Given the description of an element on the screen output the (x, y) to click on. 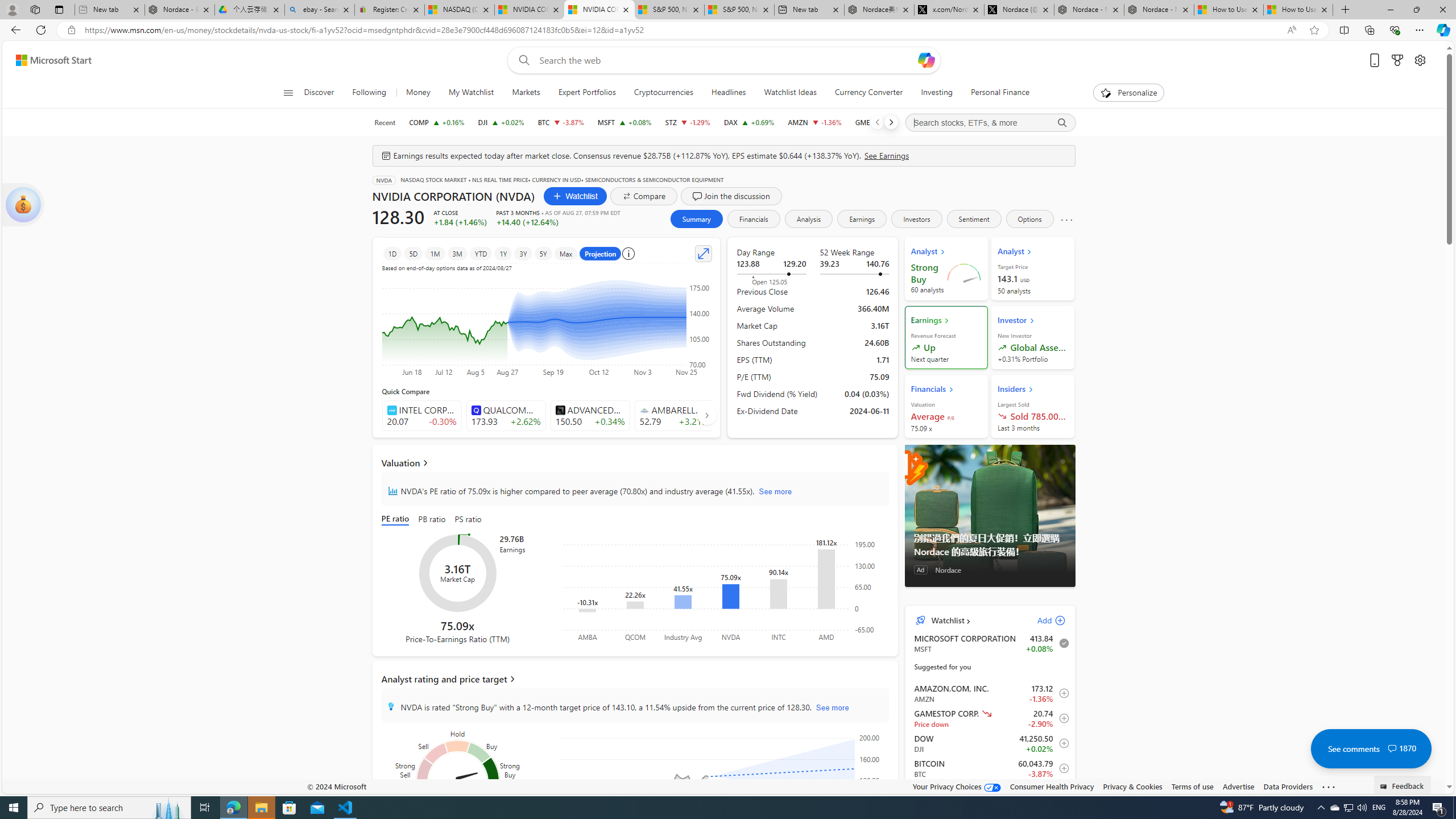
Open settings (1420, 60)
Watchlist (575, 195)
Terms of use (1192, 785)
Add (1041, 620)
Markets (525, 92)
GME GAMESTOP CORP. decrease 20.74 -0.62 -2.90% (879, 122)
Data Providers (1288, 785)
Summary (695, 218)
STZ CONSTELLATION BRANDS, INC. decrease 239.98 -3.13 -1.29% (687, 122)
DAX DAX increase 18,810.04 +128.23 +0.69% (748, 122)
Financials (753, 218)
